Given the description of an element on the screen output the (x, y) to click on. 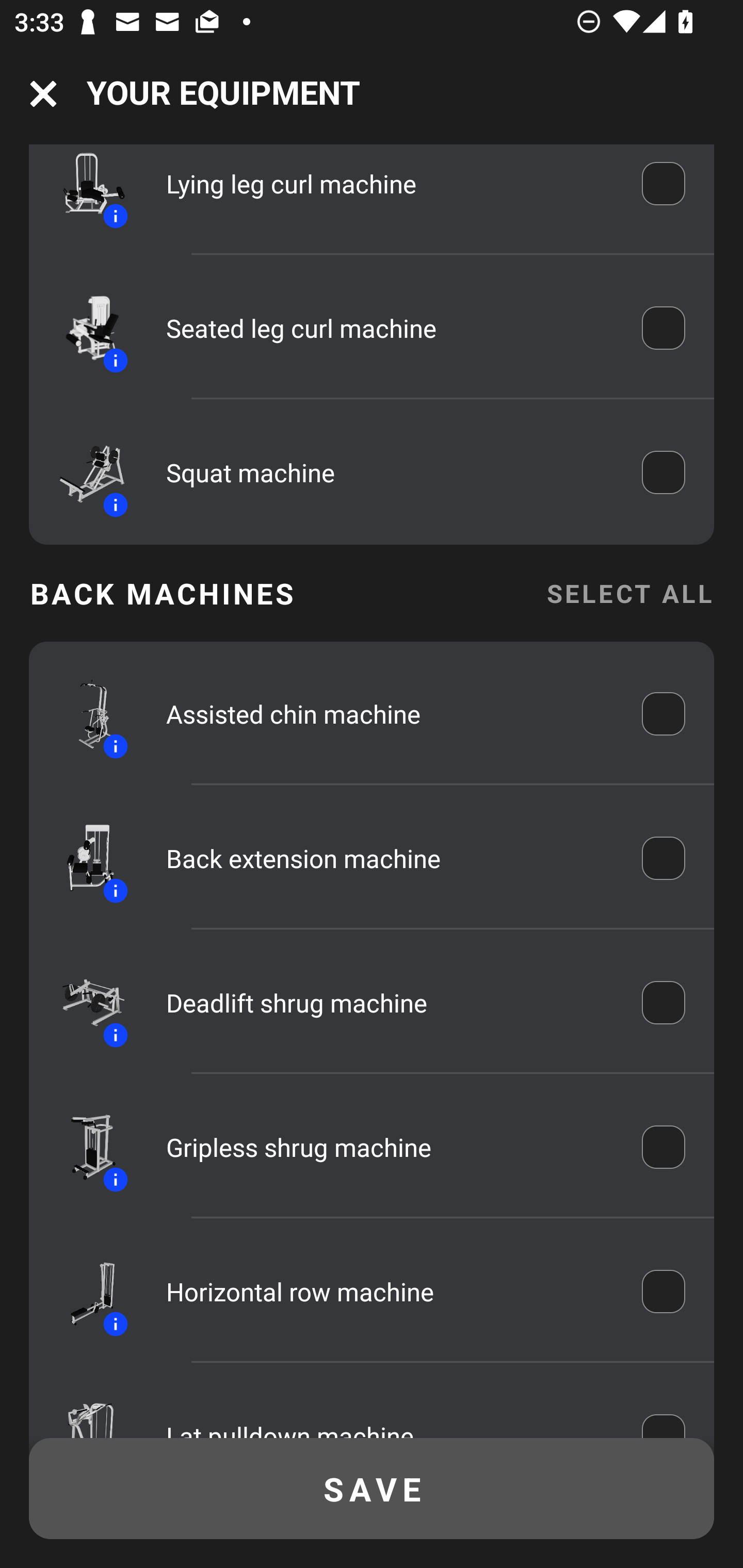
Navigation icon (43, 93)
Equipment icon Information icon (82, 191)
Lying leg curl machine (389, 185)
Equipment icon Information icon (82, 328)
Seated leg curl machine (389, 328)
Equipment icon Information icon (82, 472)
Squat machine (389, 472)
SELECT ALL (629, 593)
Equipment icon Information icon (82, 714)
Assisted chin machine (389, 714)
Equipment icon Information icon (82, 858)
Back extension machine (389, 858)
Equipment icon Information icon (82, 1002)
Deadlift shrug machine (389, 1002)
Equipment icon Information icon (82, 1146)
Gripless shrug machine (389, 1146)
Equipment icon Information icon (82, 1291)
Horizontal row machine (389, 1291)
Equipment icon (82, 1409)
SAVE (371, 1488)
